Given the description of an element on the screen output the (x, y) to click on. 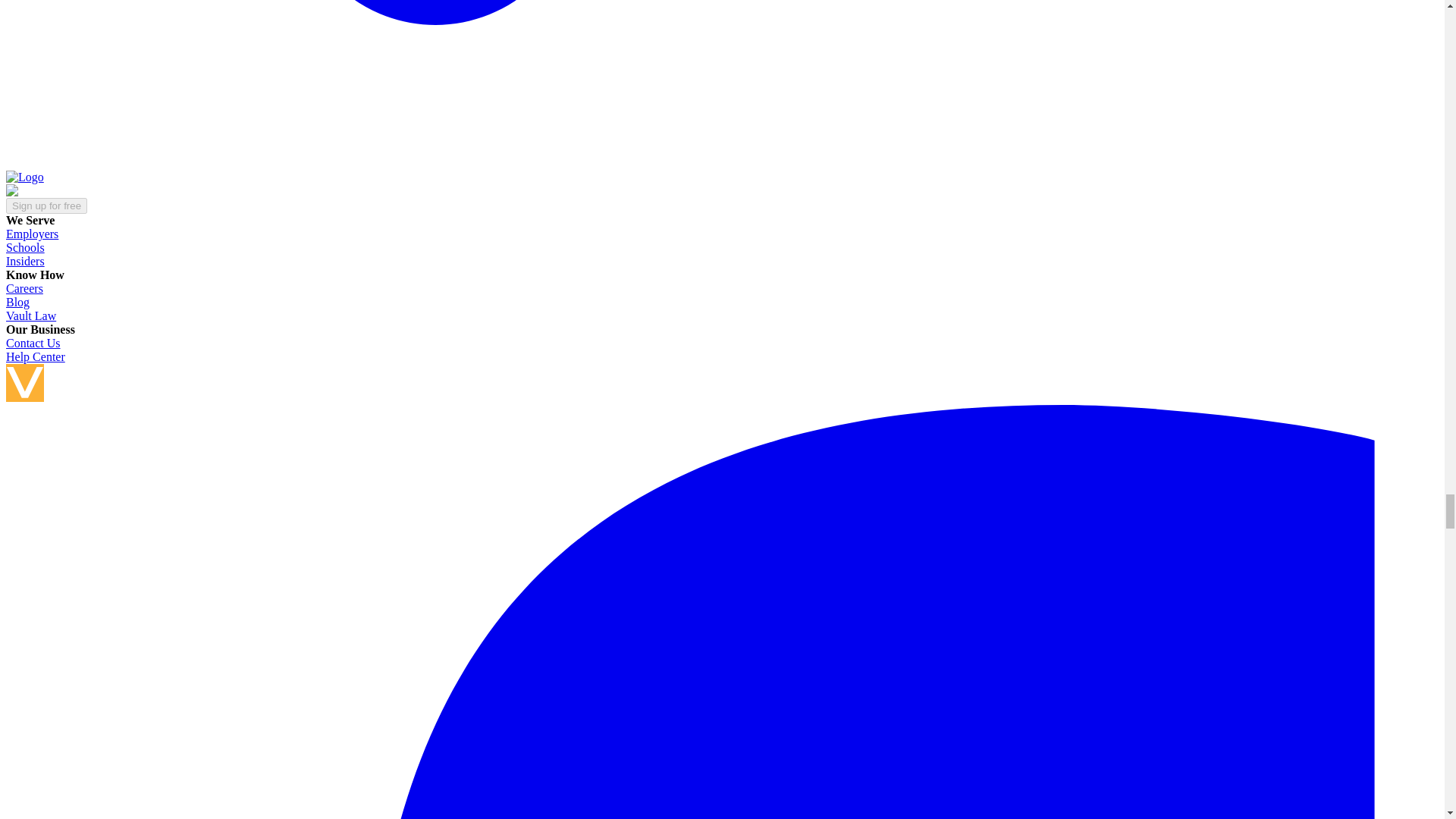
Insiders (25, 260)
Vault Law (30, 315)
Sign up for free (46, 205)
Contact Us (33, 342)
Employers (31, 233)
Sign up for free (46, 205)
Careers (24, 287)
Help Center (35, 356)
Blog (17, 301)
Schools (25, 246)
